Given the description of an element on the screen output the (x, y) to click on. 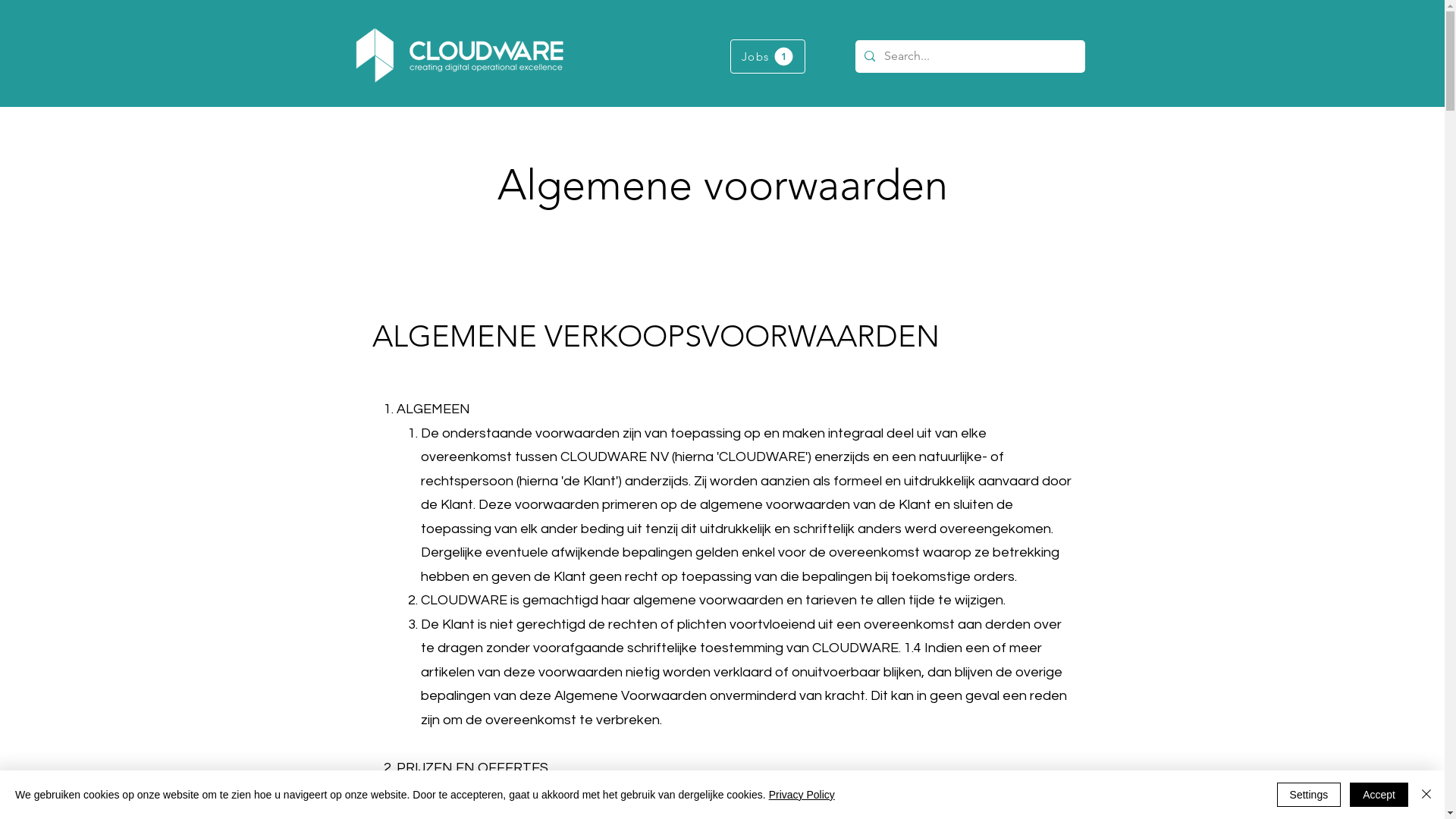
Banner-Cloudware-Wit.png Element type: hover (458, 54)
Accept Element type: text (1378, 794)
Privacy Policy Element type: text (801, 794)
Settings Element type: text (1309, 794)
Jobs Element type: text (766, 56)
